Given the description of an element on the screen output the (x, y) to click on. 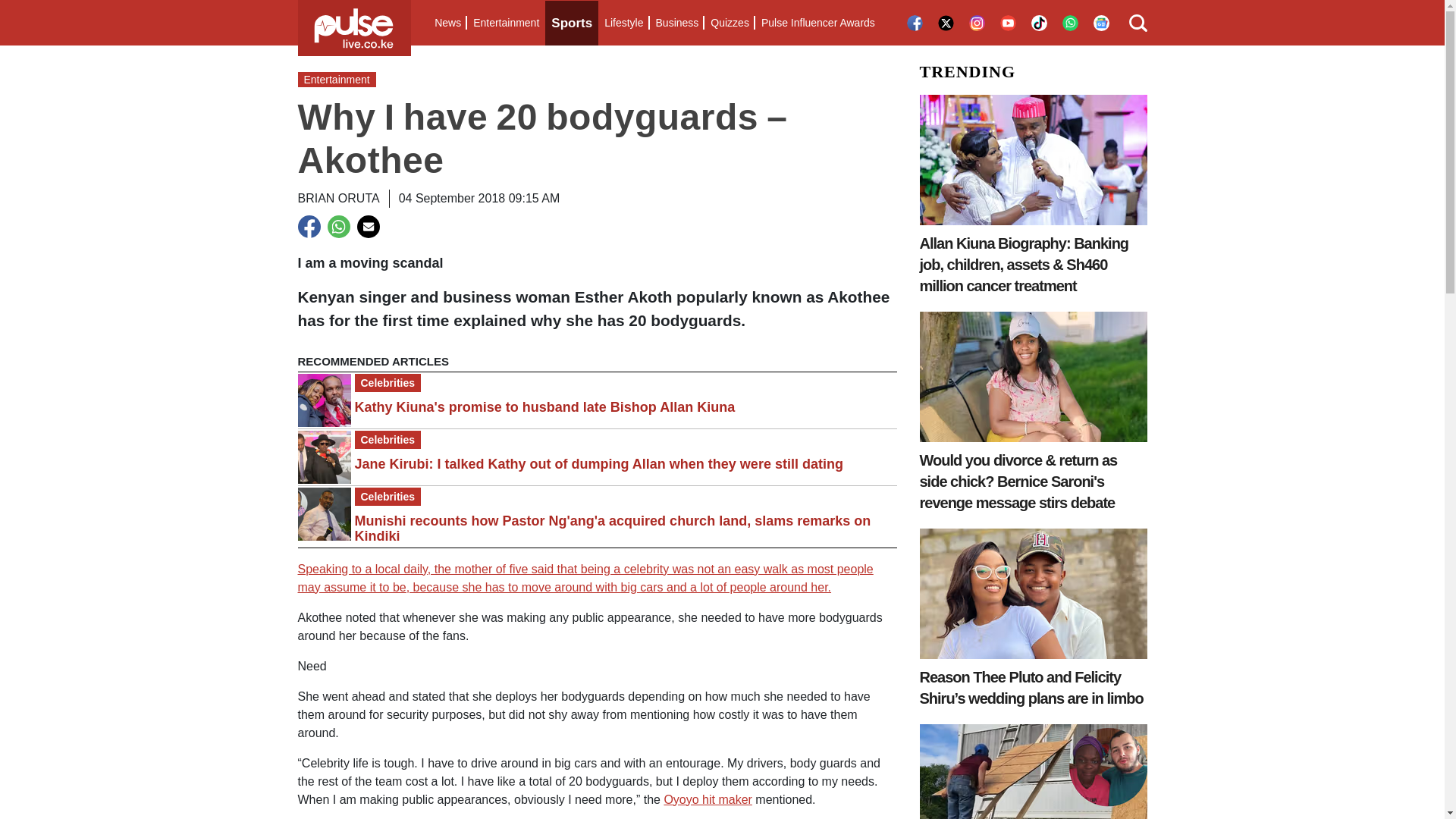
Entertainment (505, 22)
News (447, 22)
Sports (571, 22)
Pulse Influencer Awards (817, 22)
Business (676, 22)
Quizzes (729, 22)
Lifestyle (623, 22)
